Given the description of an element on the screen output the (x, y) to click on. 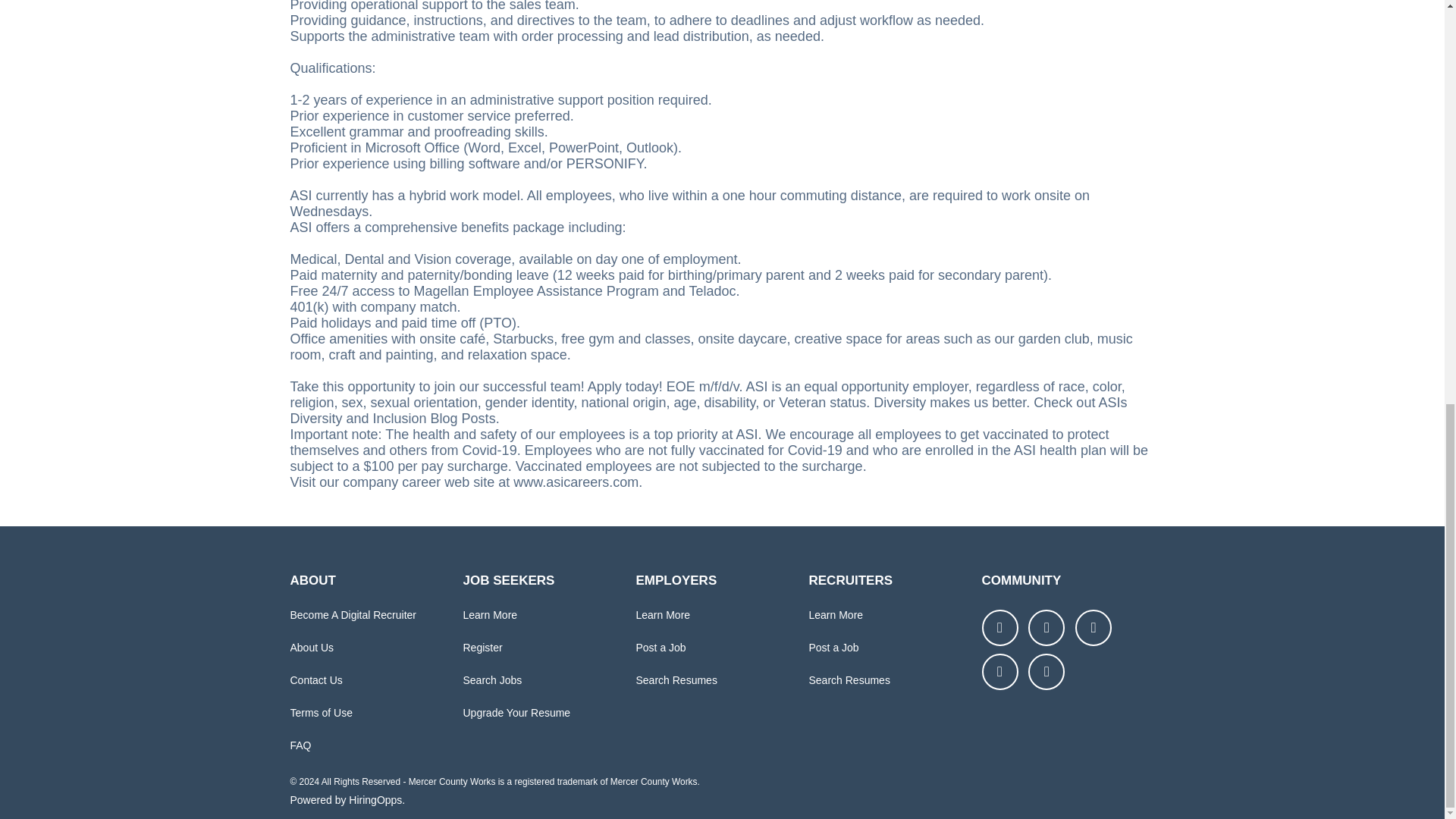
Become A Digital Recruiter (352, 614)
Register (482, 647)
Search Resumes (675, 680)
Post a Job (659, 647)
Learn More (489, 614)
Terms of Use (320, 712)
Learn More (662, 614)
About Us (311, 647)
Search Jobs (492, 680)
Upgrade Your Resume (516, 712)
Learn More (835, 614)
Contact Us (315, 680)
FAQ (300, 745)
